Given the description of an element on the screen output the (x, y) to click on. 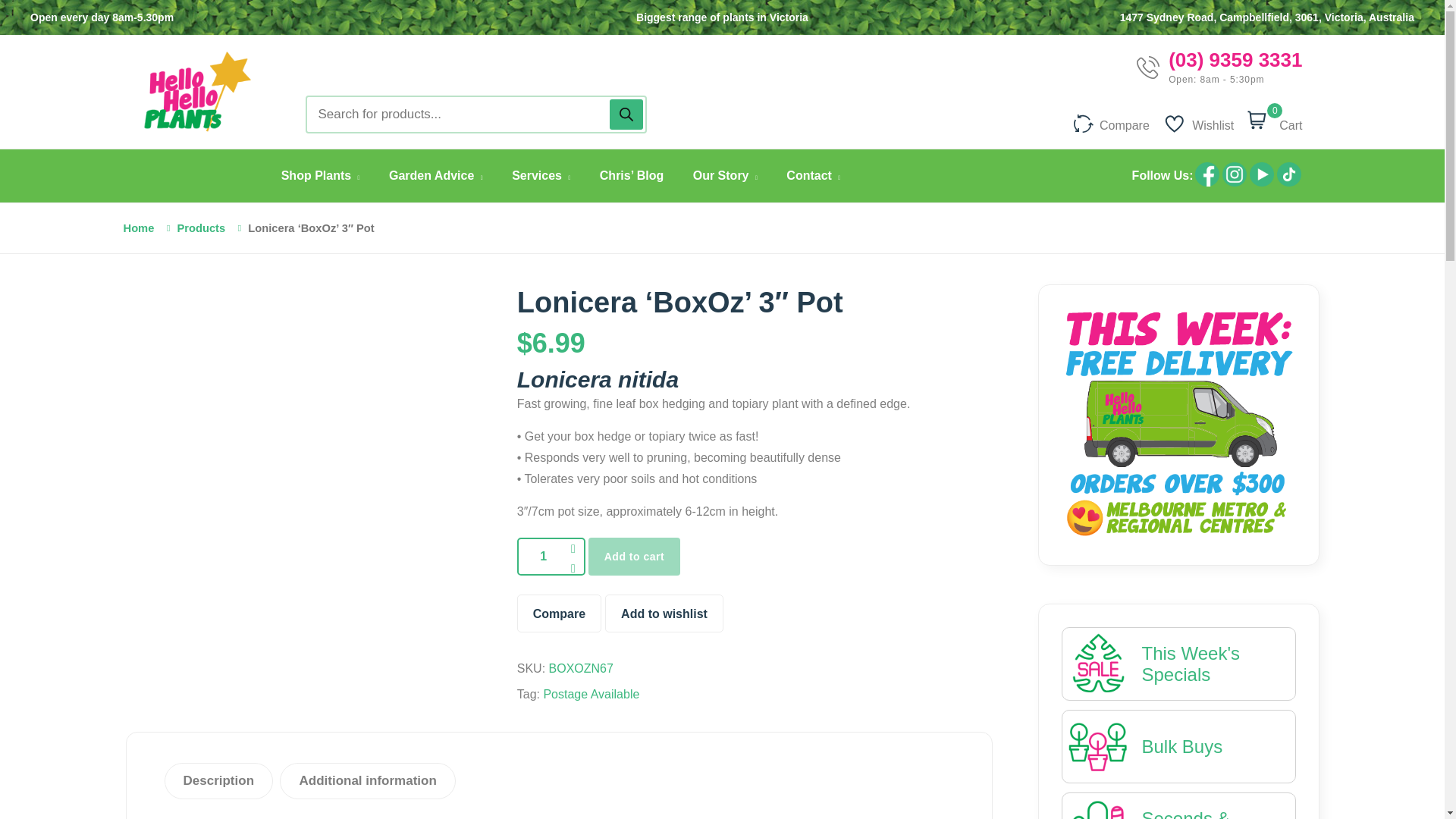
Qty (550, 556)
facebook (1207, 174)
Wishlist (1198, 121)
1 (550, 556)
Cart (1287, 121)
tiktock (1289, 183)
tiktock (1288, 174)
youtube (1261, 183)
youtube (1261, 174)
facebook (1207, 183)
